Given the description of an element on the screen output the (x, y) to click on. 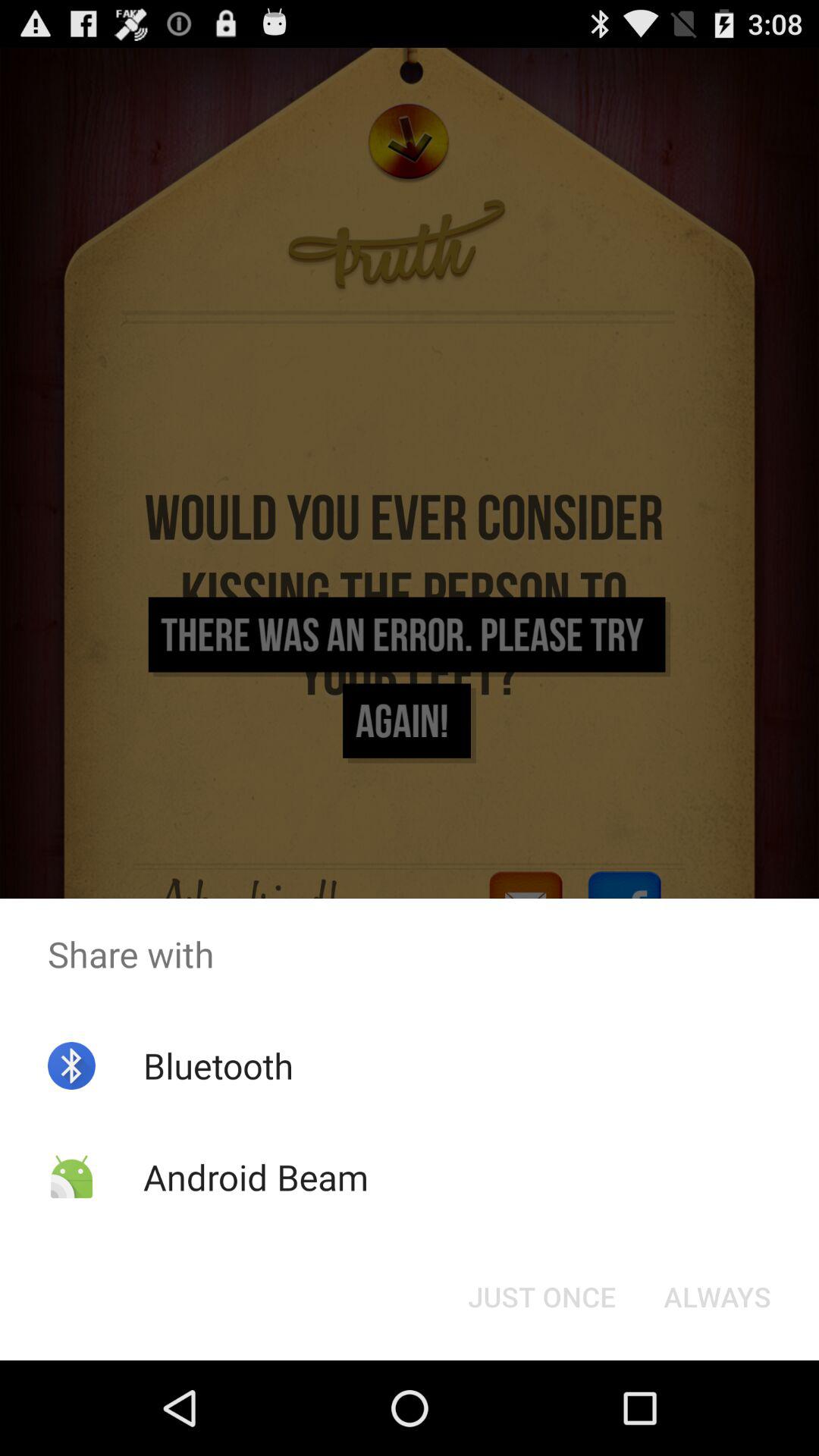
choose the item to the right of the just once button (717, 1296)
